Given the description of an element on the screen output the (x, y) to click on. 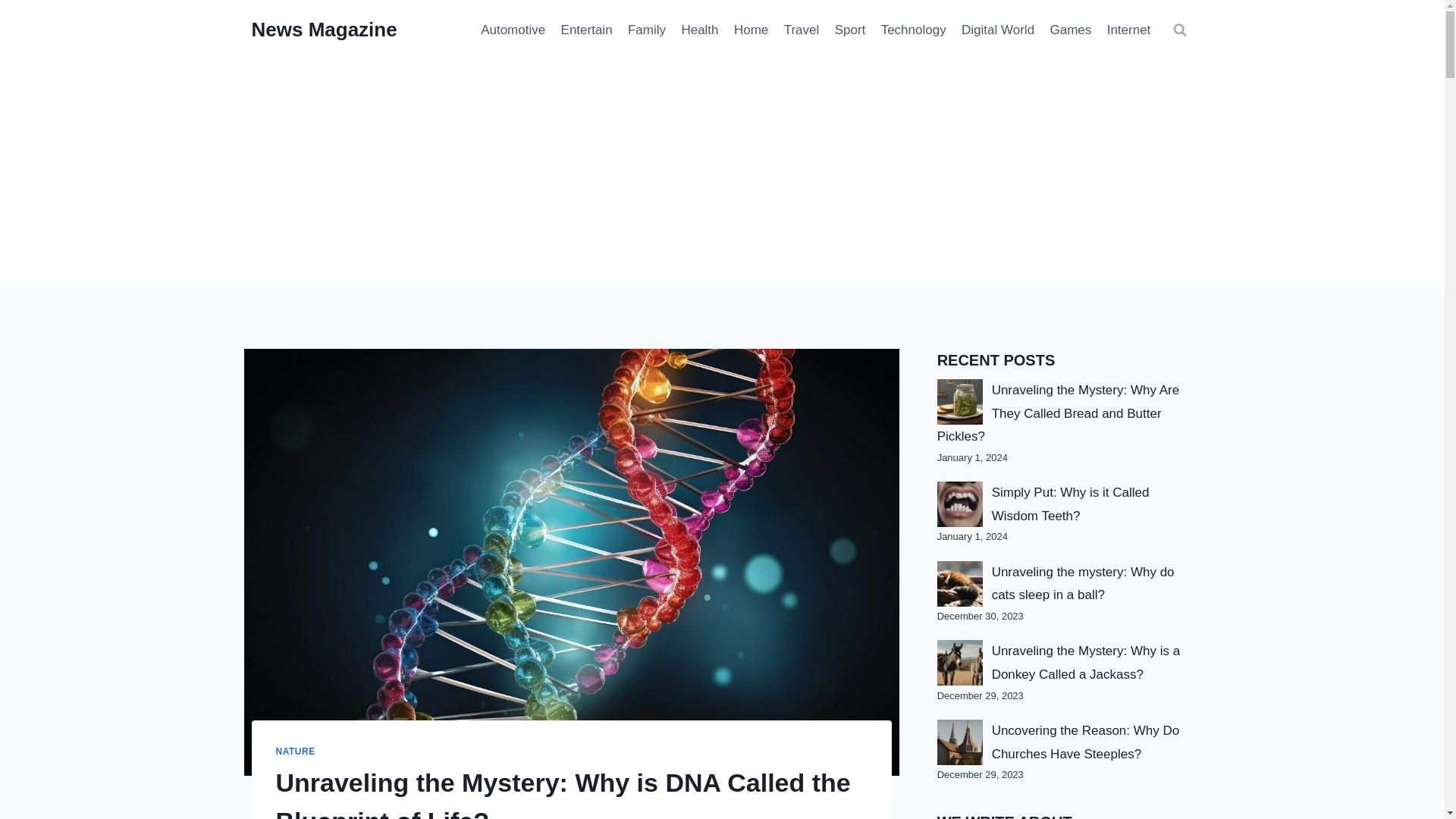
News Magazine (324, 29)
Travel (801, 30)
Internet (1128, 30)
Health (699, 30)
Digital World (997, 30)
Automotive (513, 30)
Sport (849, 30)
Home (751, 30)
NATURE (295, 751)
